Given the description of an element on the screen output the (x, y) to click on. 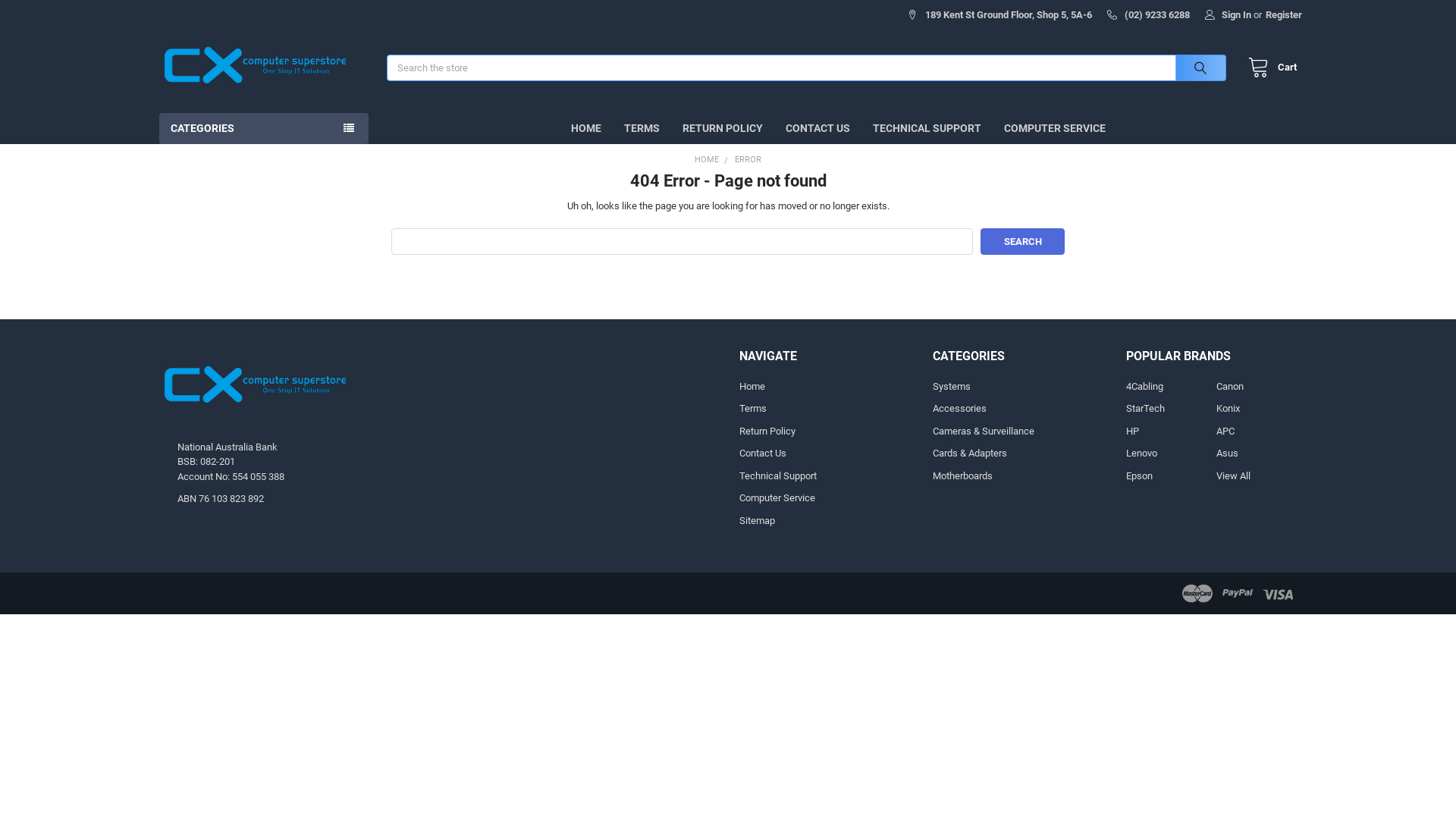
(02) 9233 6288 Element type: text (1148, 10)
CONTACT US Element type: text (817, 128)
Contact Us Element type: text (762, 452)
Konix Element type: text (1227, 408)
Home Element type: text (752, 386)
Return Policy Element type: text (767, 430)
Canon Element type: text (1229, 386)
Asus Element type: text (1227, 452)
CX Computer Superstore Element type: hover (253, 67)
Systems Element type: text (951, 386)
COMPUTER SERVICE Element type: text (1054, 128)
ERROR Element type: text (747, 159)
Technical Support Element type: text (777, 475)
Terms Element type: text (752, 408)
Register Element type: text (1283, 10)
Lenovo Element type: text (1141, 452)
RETURN POLICY Element type: text (722, 128)
Epson Element type: text (1139, 475)
CATEGORIES Element type: text (263, 128)
Computer Service Element type: text (777, 497)
Sign In Element type: text (1228, 10)
StarTech Element type: text (1145, 408)
Search Element type: text (1197, 67)
HP Element type: text (1132, 430)
APC Element type: text (1225, 430)
HOME Element type: text (585, 128)
TERMS Element type: text (641, 128)
Cart Element type: text (1268, 67)
View All Element type: text (1233, 475)
CX Computer Superstore Element type: hover (253, 386)
Cards & Adapters Element type: text (969, 452)
Sitemap Element type: text (757, 520)
Motherboards Element type: text (962, 475)
HOME Element type: text (706, 159)
Cameras & Surveillance Element type: text (983, 430)
Accessories Element type: text (959, 408)
TECHNICAL SUPPORT Element type: text (926, 128)
Search Element type: text (1022, 241)
4Cabling Element type: text (1144, 386)
Top of Page Element type: hover (1428, 537)
